Given the description of an element on the screen output the (x, y) to click on. 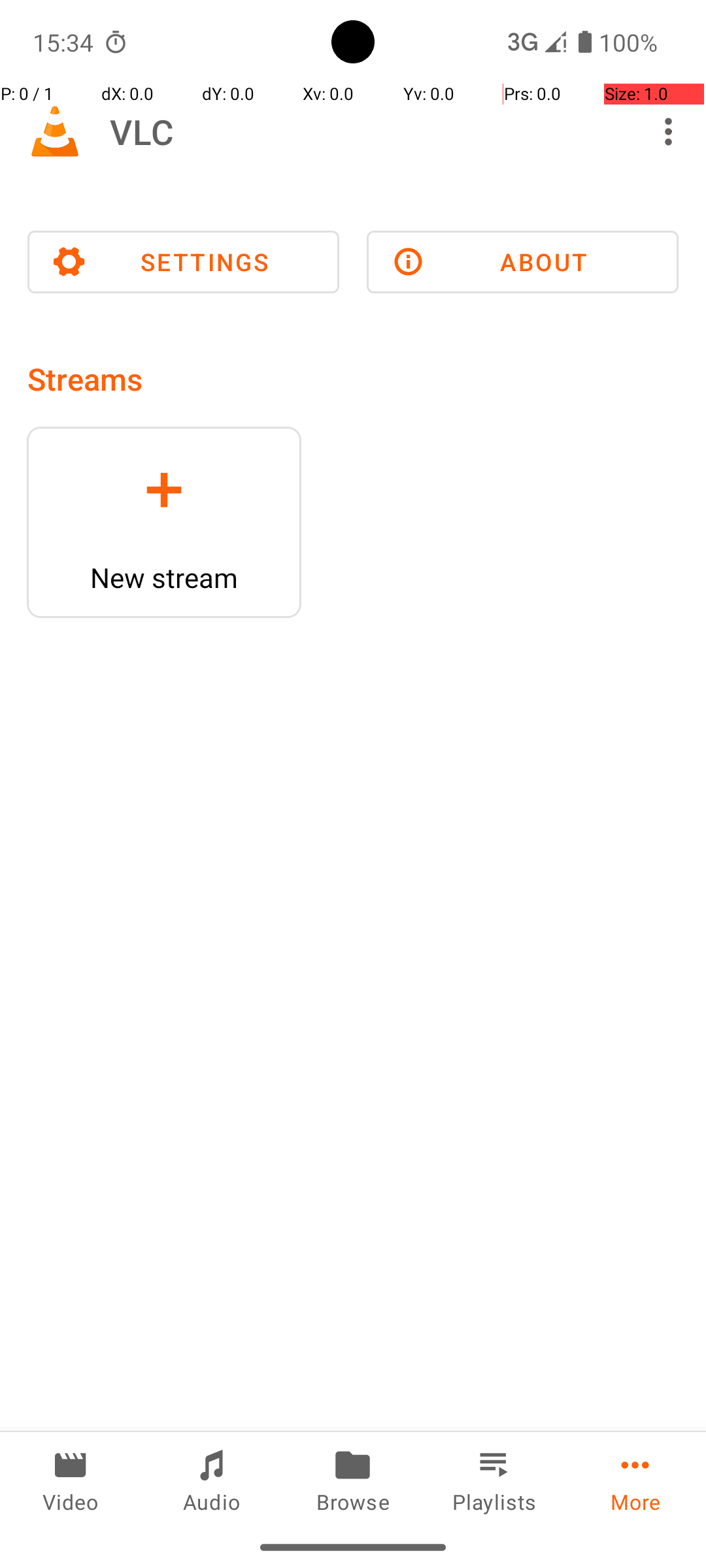
SETTINGS Element type: android.widget.Button (183, 261)
ABOUT Element type: android.widget.Button (522, 261)
Streams Element type: android.widget.TextView (84, 378)
Browse Element type: android.widget.FrameLayout (352, 1478)
New stream Element type: android.widget.TextView (163, 576)
